Given the description of an element on the screen output the (x, y) to click on. 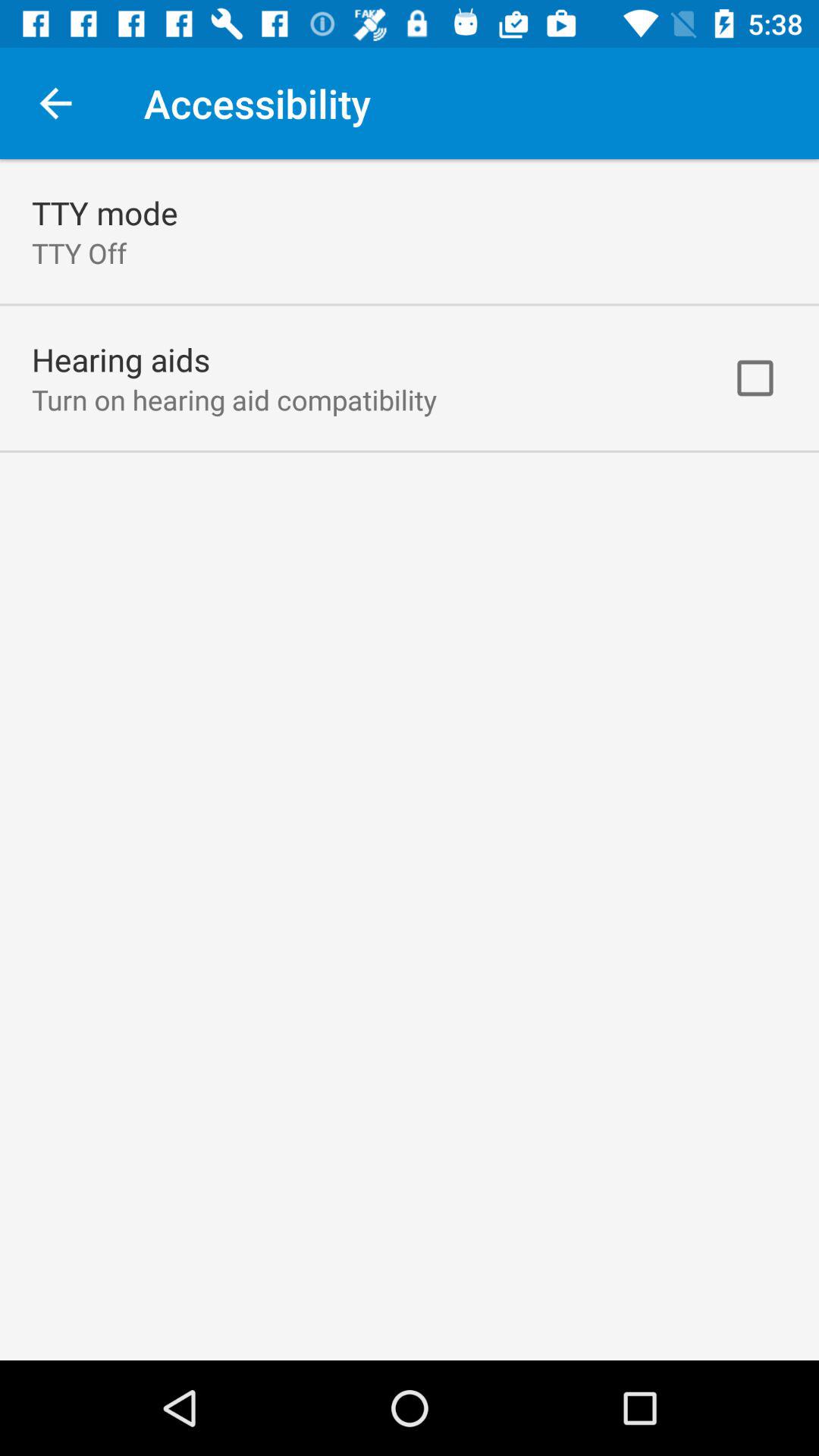
flip until tty off (78, 252)
